Given the description of an element on the screen output the (x, y) to click on. 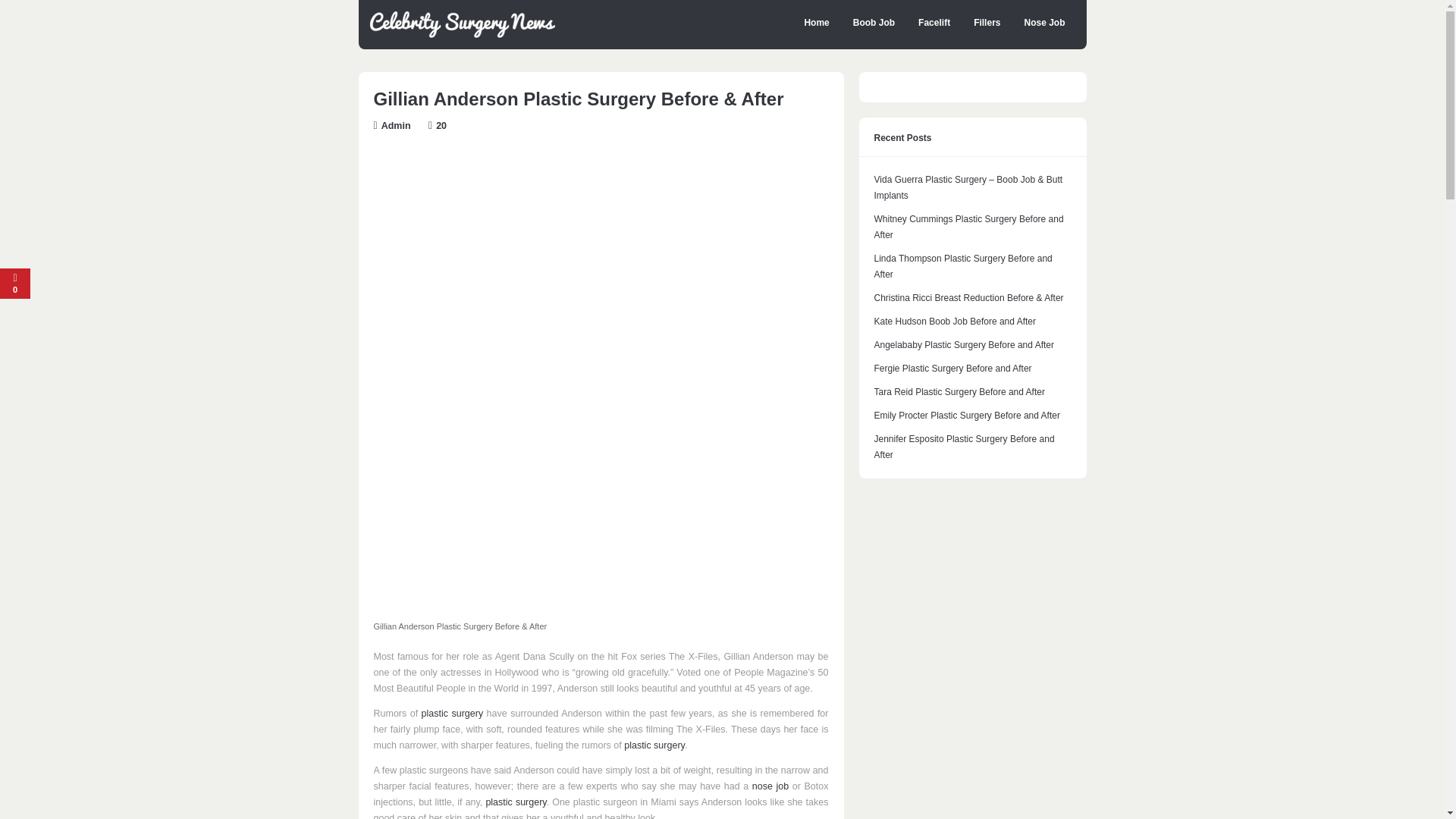
Nose Job (1043, 22)
Home (815, 22)
plastic surgery (452, 713)
Admin (395, 125)
nose job (770, 786)
plastic surgery (654, 745)
20 (440, 125)
Facelift (933, 22)
plastic surgery (515, 801)
Celebrity Plastic Surgery News (461, 34)
Boob Job (873, 22)
Fillers (986, 22)
